Given the description of an element on the screen output the (x, y) to click on. 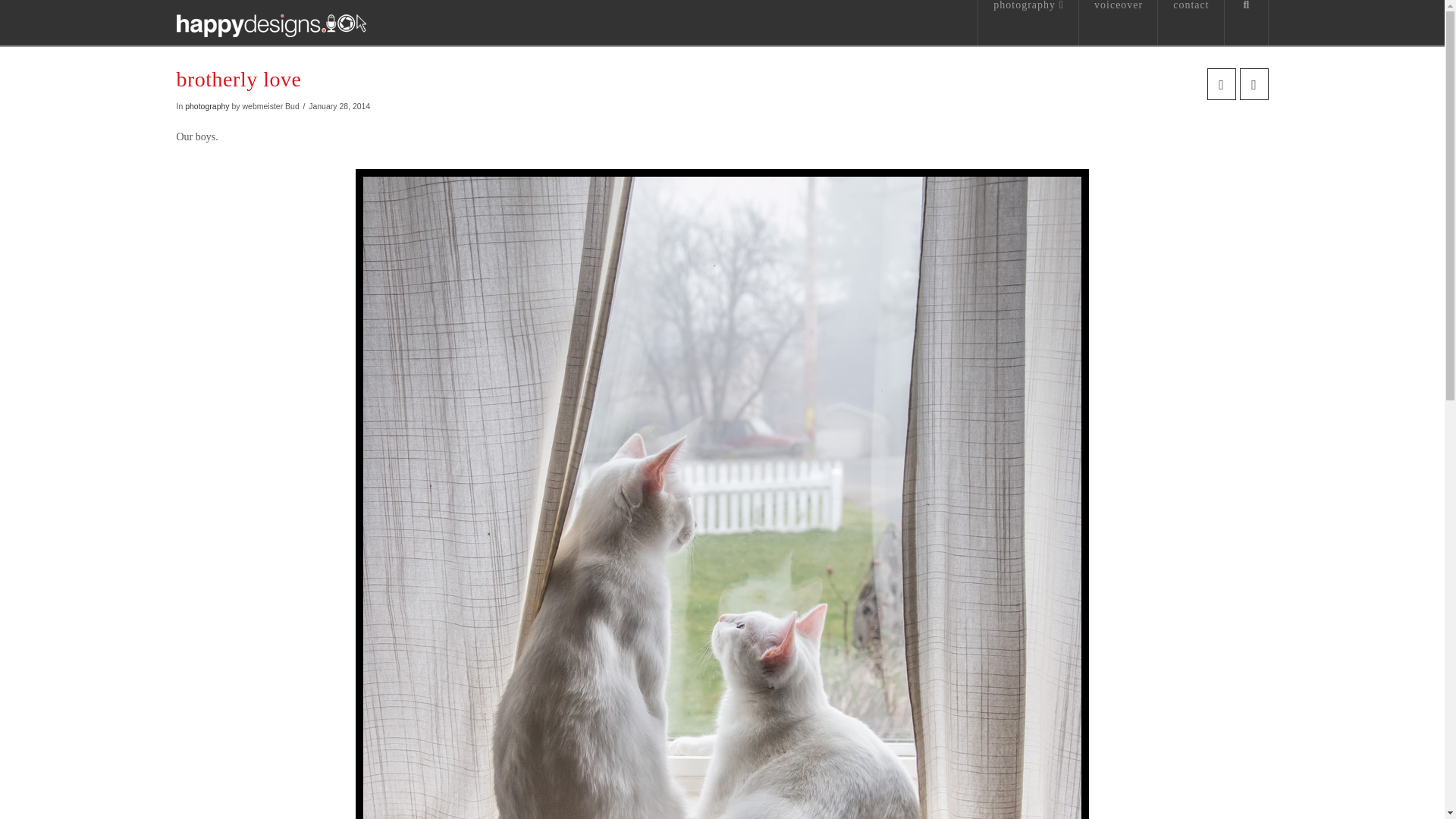
contact (1190, 22)
photography (1027, 22)
photography (206, 105)
voiceover (1117, 22)
